Given the description of an element on the screen output the (x, y) to click on. 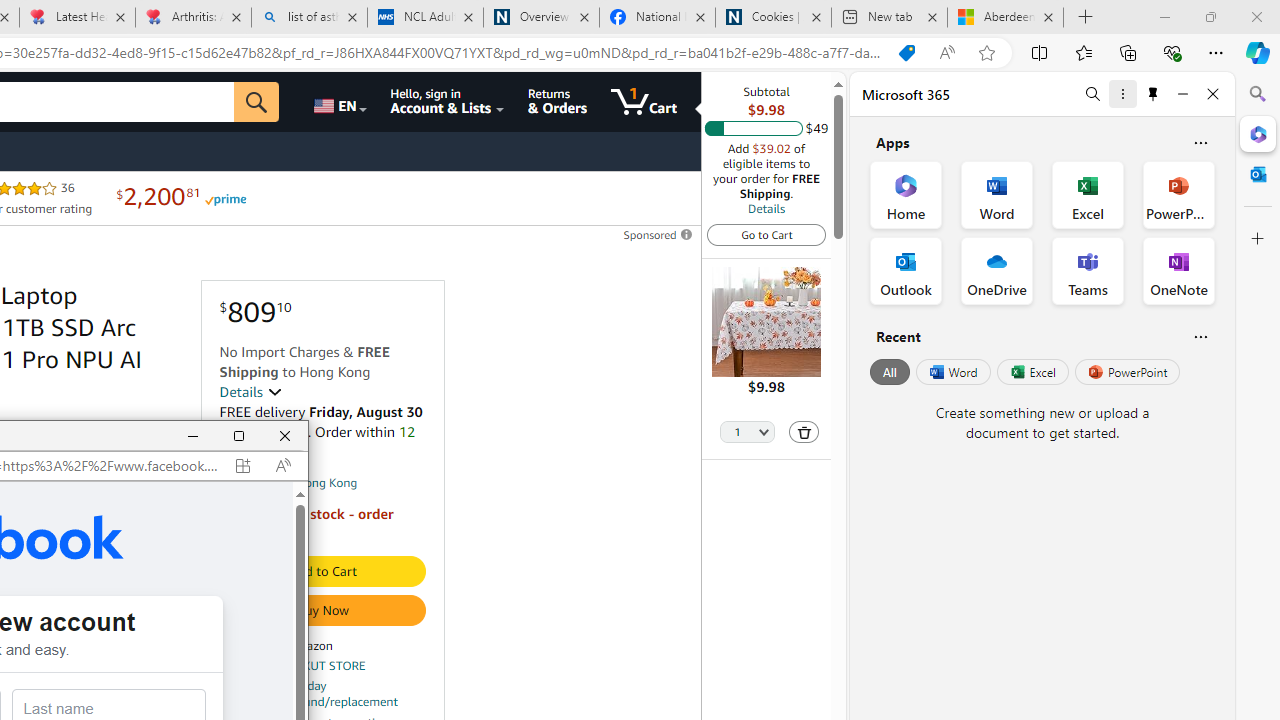
Is this helpful? (1200, 336)
Prime (224, 198)
PowerPoint Office App (1178, 194)
Go (257, 101)
Outlook Office App (906, 270)
OneNote Office App (1178, 270)
